Given the description of an element on the screen output the (x, y) to click on. 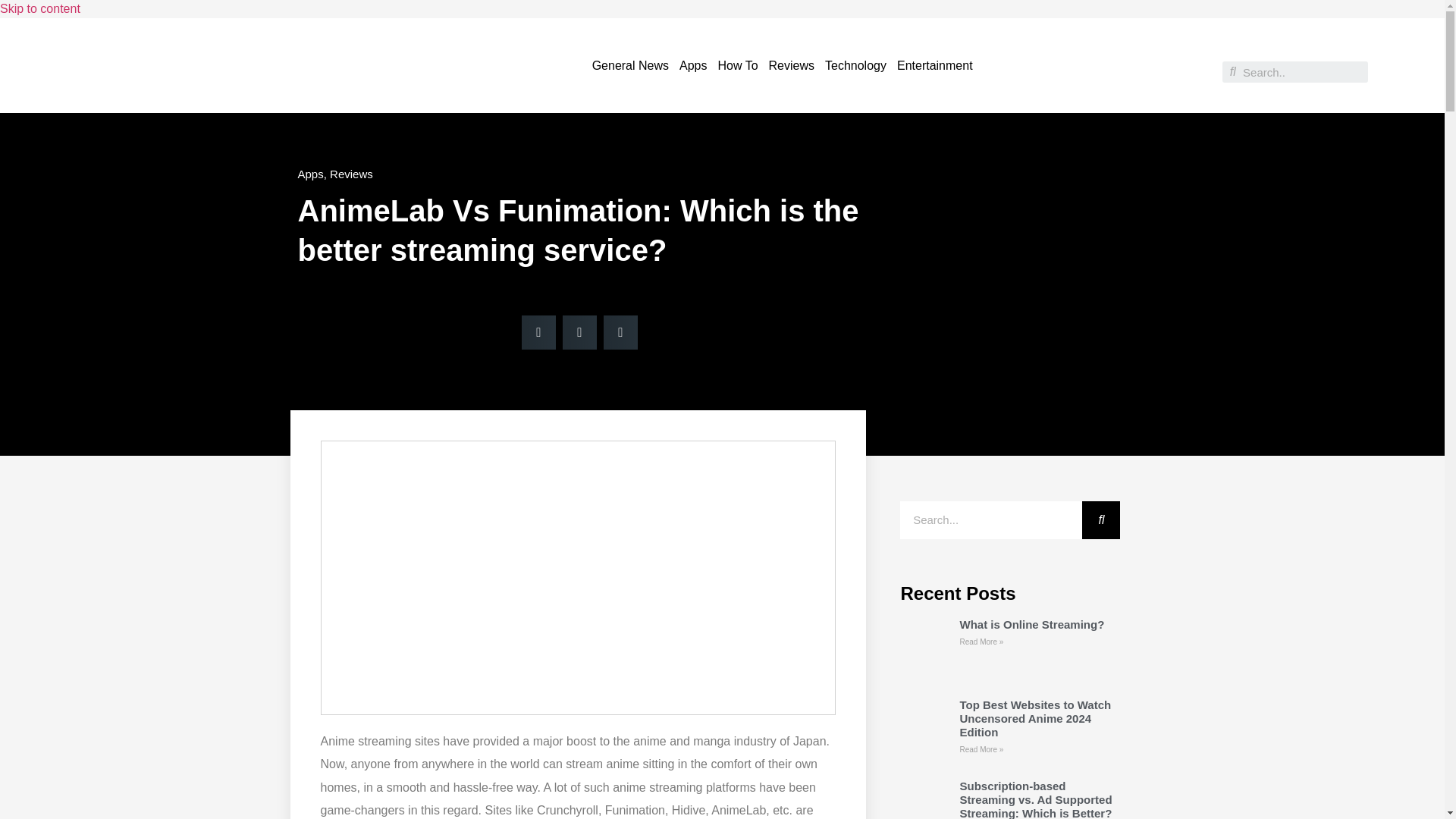
Technology (855, 64)
Reviews (790, 64)
Apps (692, 64)
Reviews (351, 173)
Skip to content (40, 8)
Entertainment (934, 64)
How To (736, 64)
General News (630, 64)
Apps (310, 173)
